Given the description of an element on the screen output the (x, y) to click on. 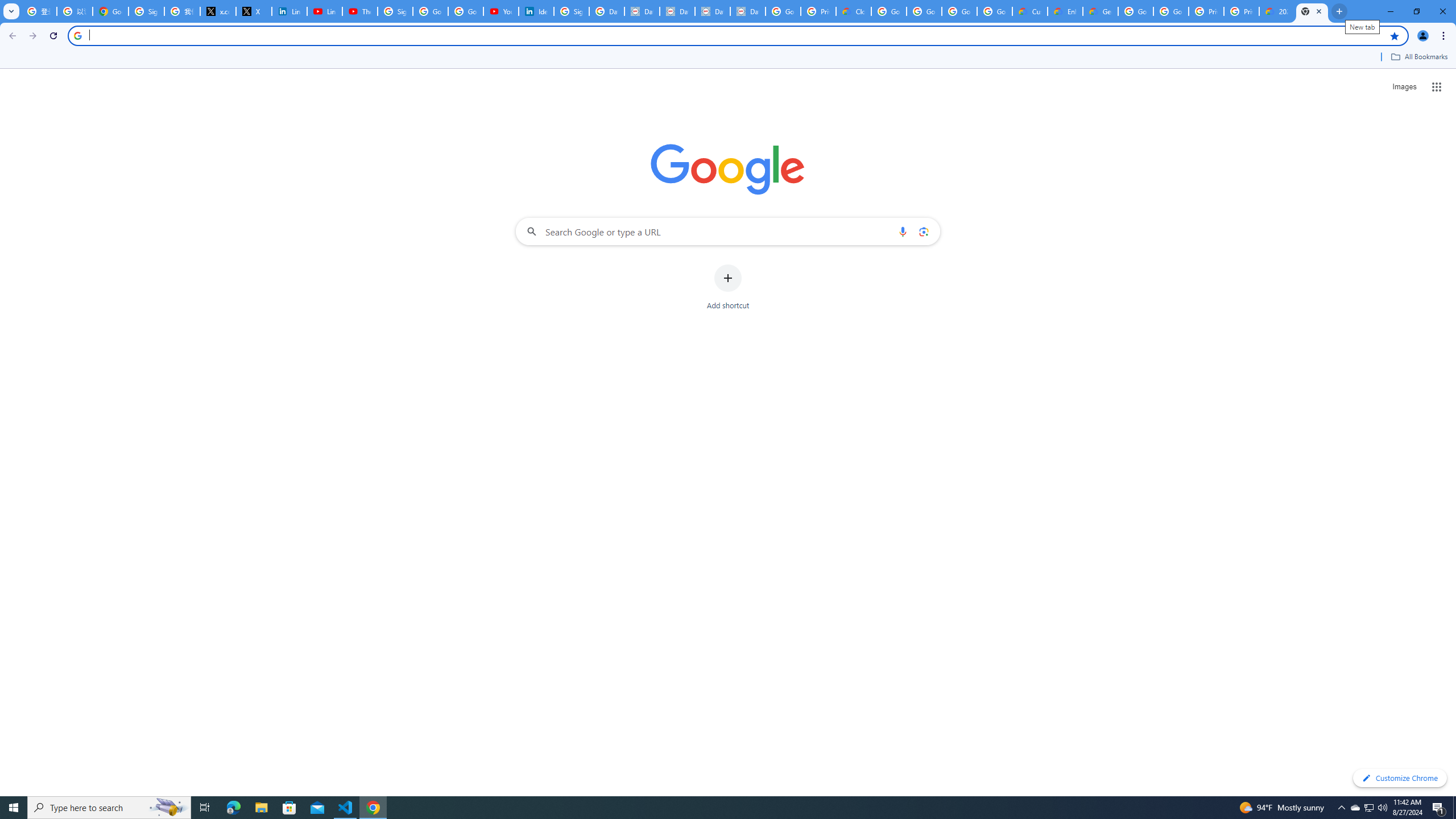
Gemini for Business and Developers | Google Cloud (1099, 11)
LinkedIn - YouTube (324, 11)
New Tab (1312, 11)
X (253, 11)
Data Privacy Framework (712, 11)
Data Privacy Framework (677, 11)
Customer Care | Google Cloud (1029, 11)
